Given the description of an element on the screen output the (x, y) to click on. 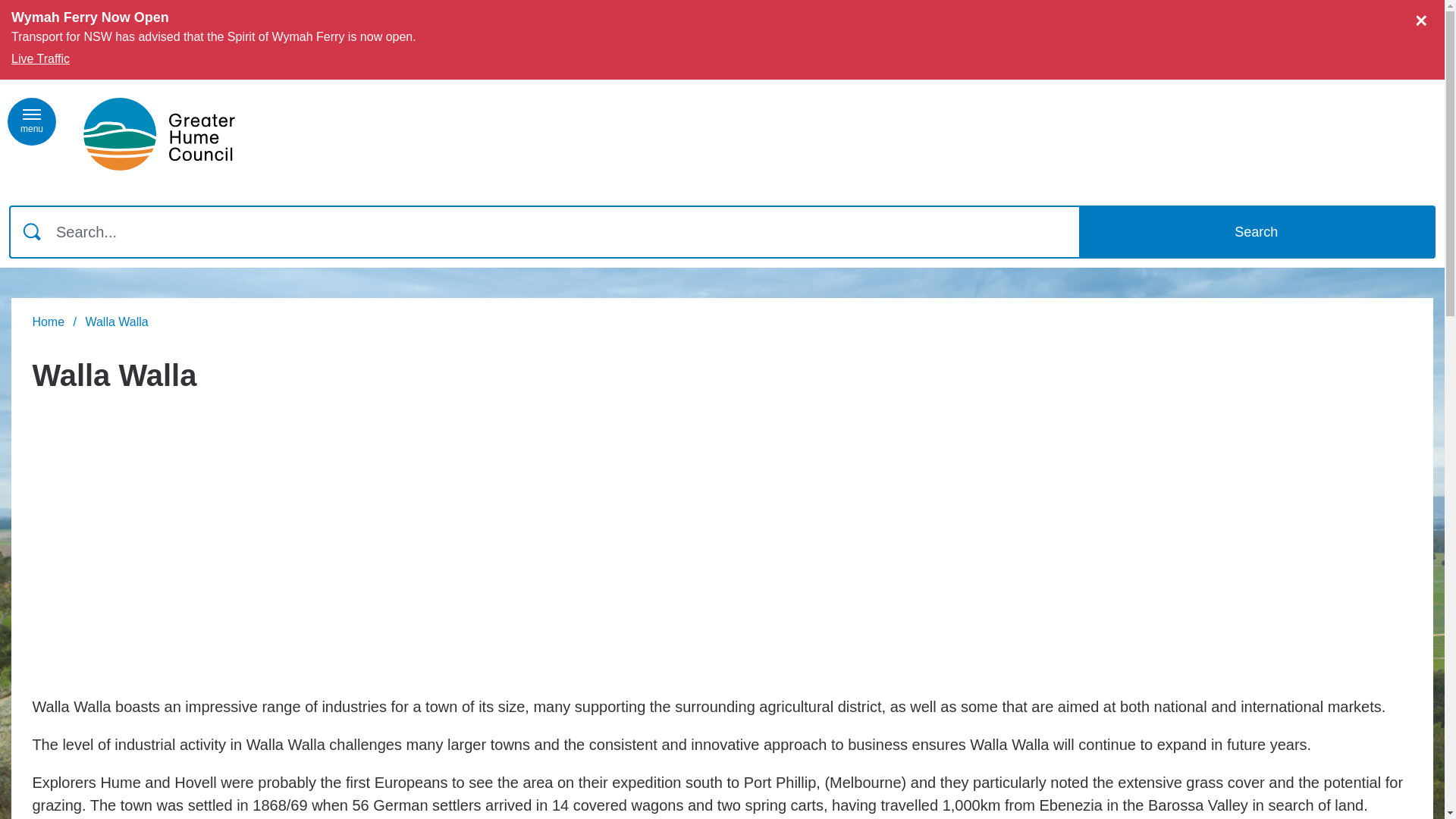
Home - Towns and Villages of Greater Hume - Logo Element type: text (159, 133)
Close this announcement Element type: text (1425, 16)
Search Element type: text (1257, 231)
Home Element type: text (47, 321)
open side
menu Element type: text (31, 121)
Live Traffic Element type: text (47, 57)
